Given the description of an element on the screen output the (x, y) to click on. 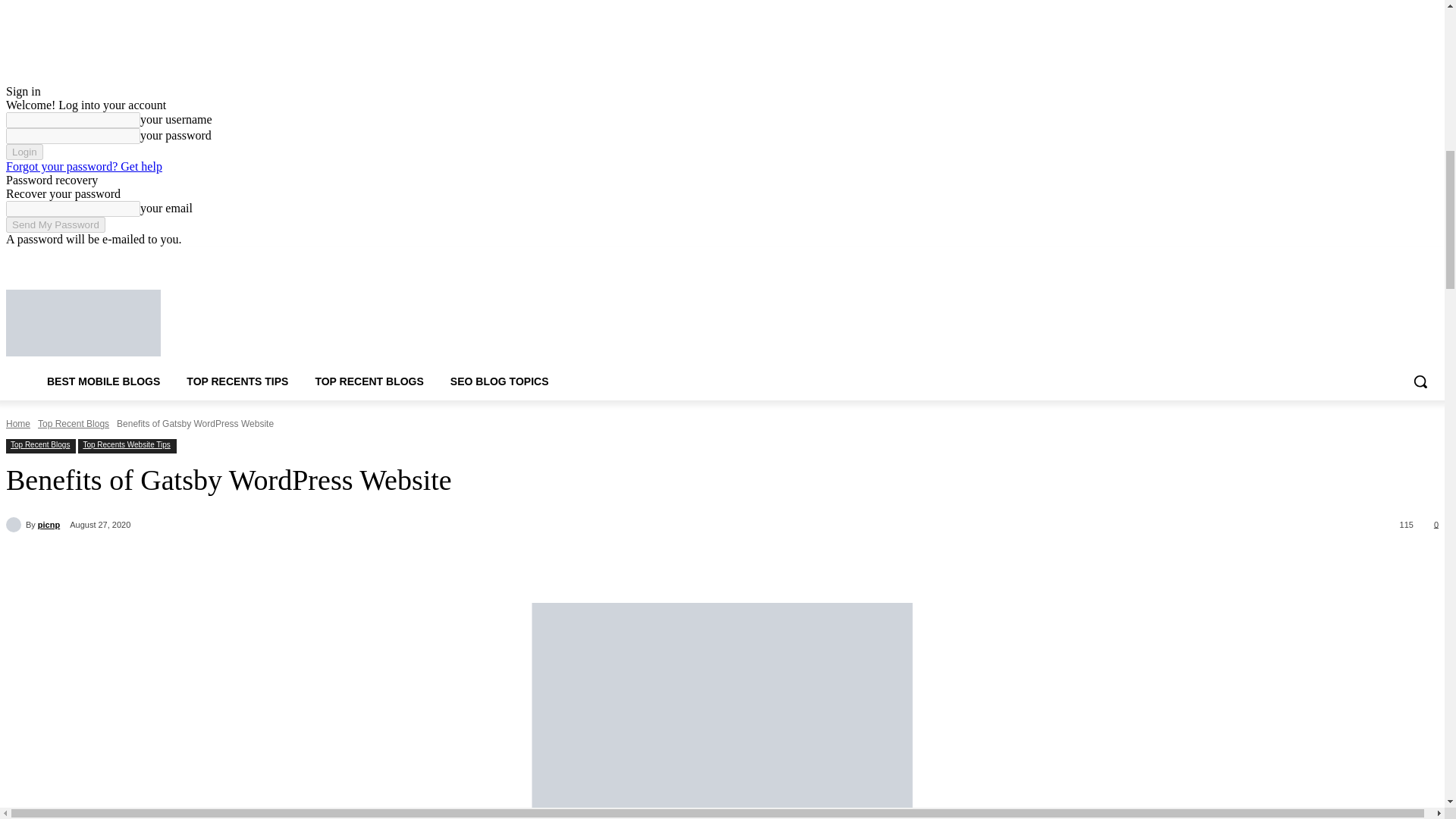
Instagram (1366, 257)
Vimeo (1407, 257)
View all posts in Top Recent Blogs (73, 423)
Top Recents  (82, 322)
Twitter (1387, 257)
Send My Password (54, 224)
Top Recents  (220, 322)
Youtube (1429, 257)
Login (24, 151)
Facebook (1345, 257)
picnp (15, 524)
